Given the description of an element on the screen output the (x, y) to click on. 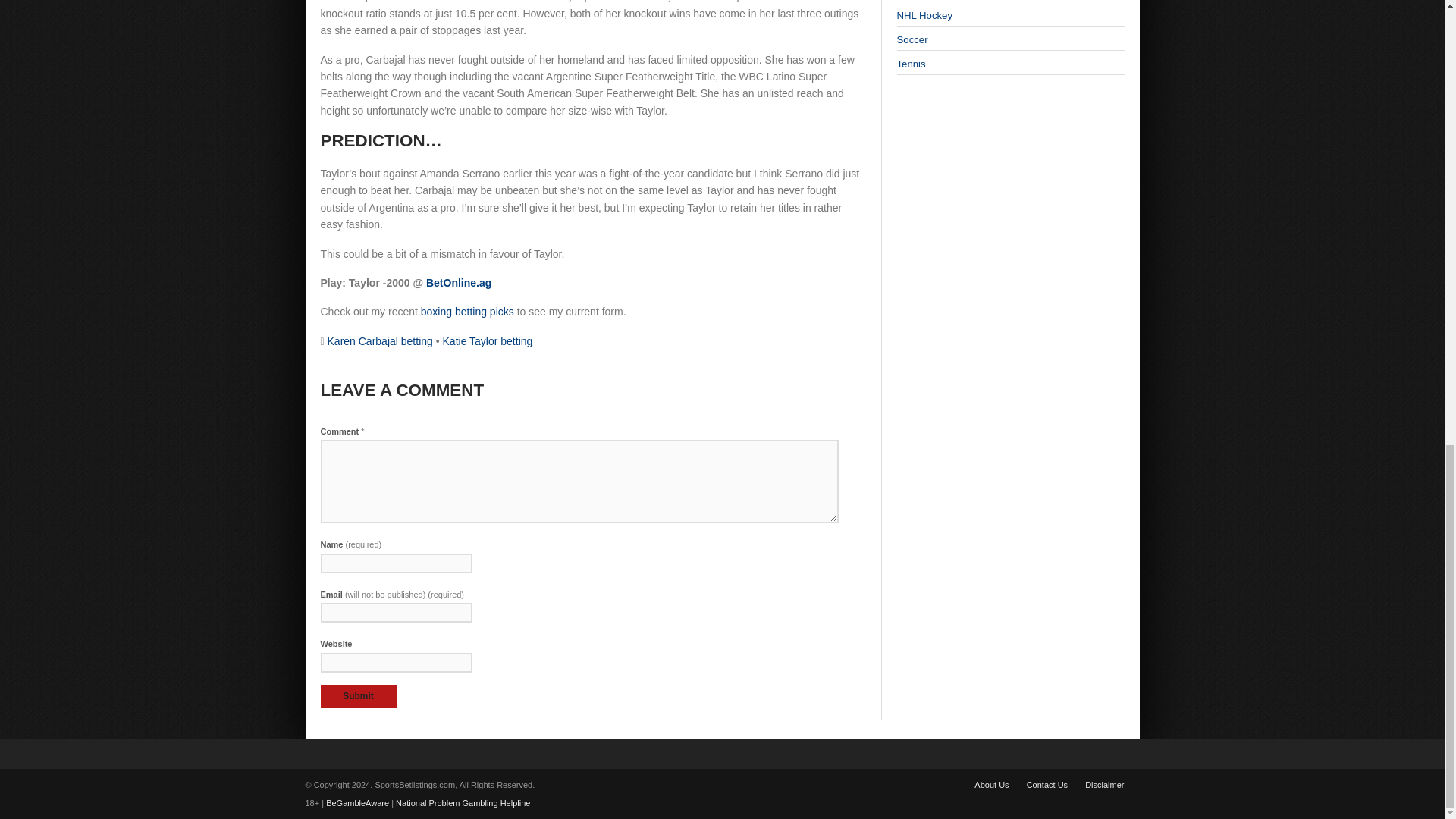
boxing betting picks (466, 311)
NHL Betting (924, 15)
Submit (358, 695)
Submit (358, 695)
Karen Carbajal betting (379, 340)
BetOnline.ag (459, 282)
Katie Taylor betting (487, 340)
